Given the description of an element on the screen output the (x, y) to click on. 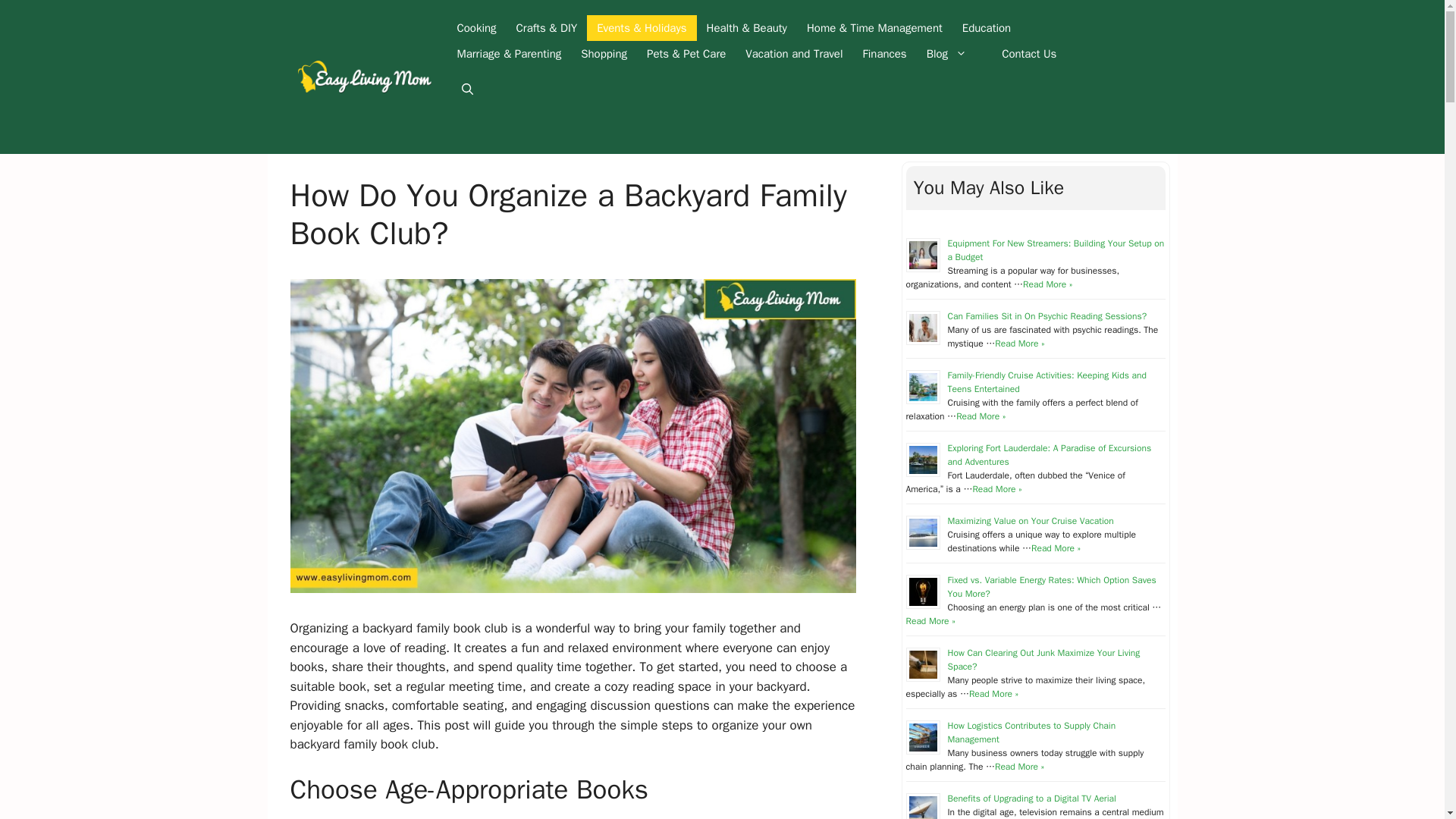
Vacation and Travel (793, 53)
Blog (954, 53)
Finances (885, 53)
Cooking (475, 27)
Shopping (603, 53)
Education (986, 27)
